Given the description of an element on the screen output the (x, y) to click on. 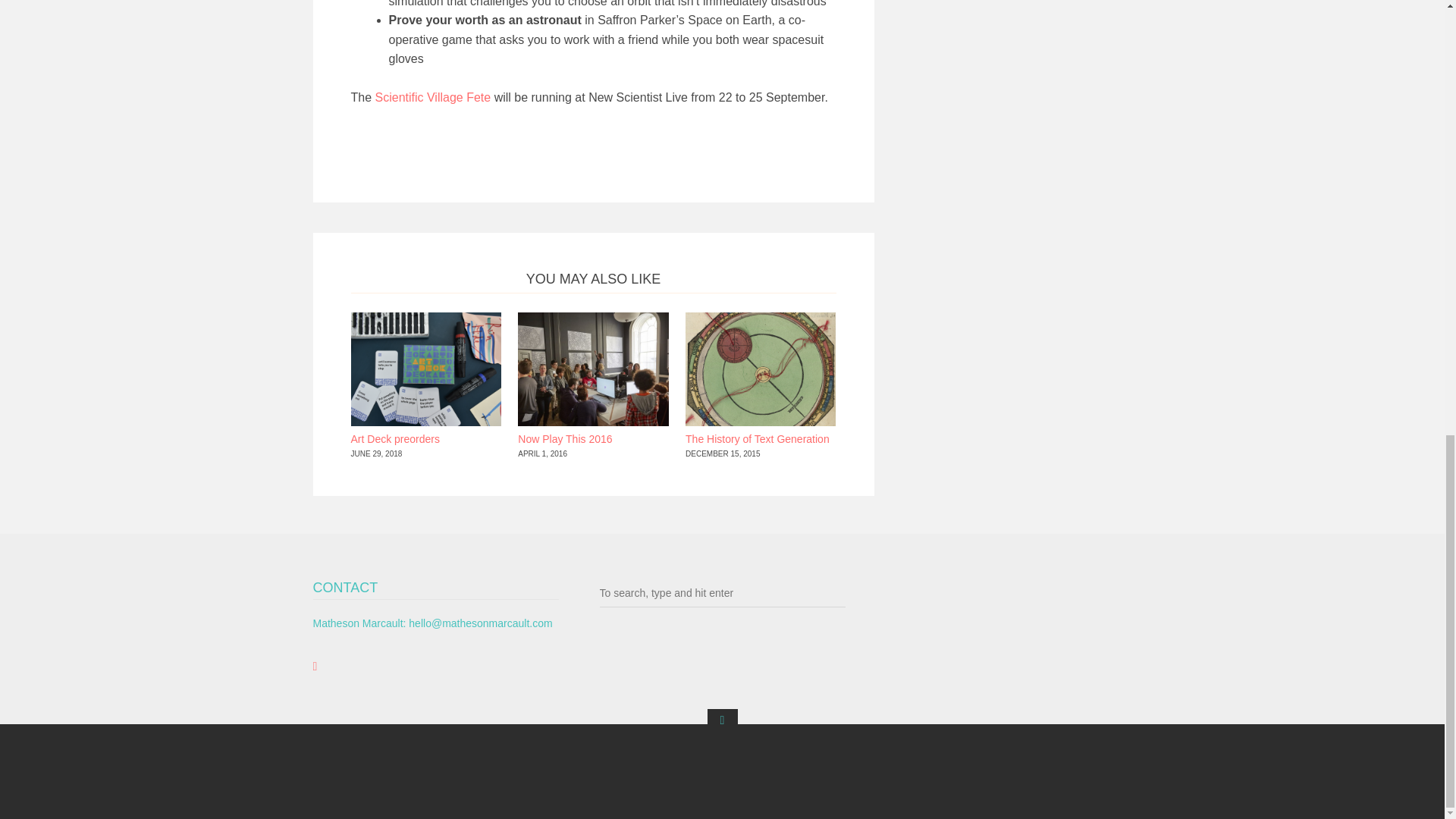
Art Deck preorders (394, 439)
Now Play This 2016 (564, 439)
The History of Text Generation (757, 439)
Scientific Village Fete (433, 97)
